Given the description of an element on the screen output the (x, y) to click on. 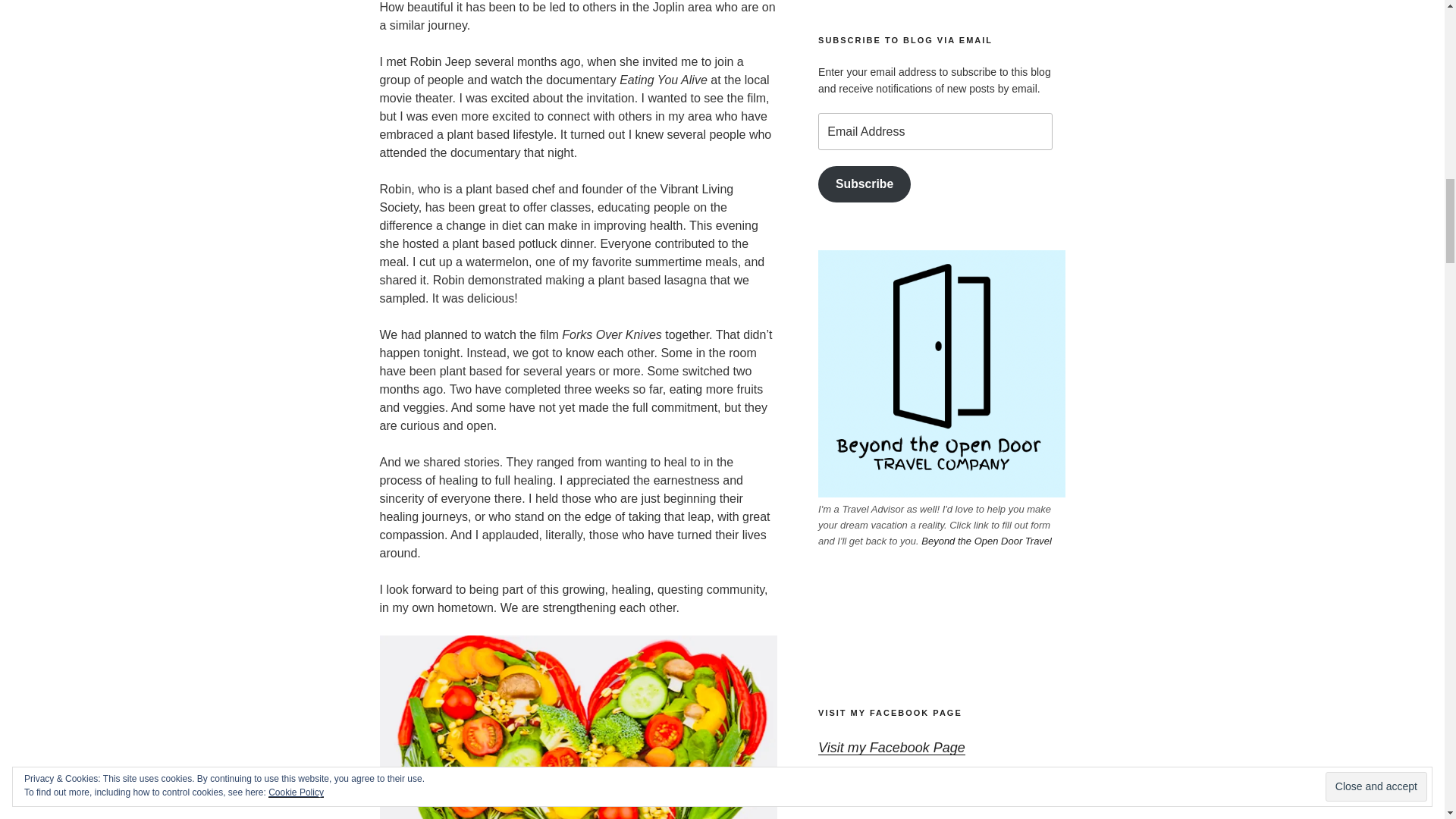
VISIT MY FACEBOOK PAGE (890, 712)
Visit my Facebook Page (891, 747)
Beyond the Open Door Travel (986, 541)
Subscribe (864, 184)
